Given the description of an element on the screen output the (x, y) to click on. 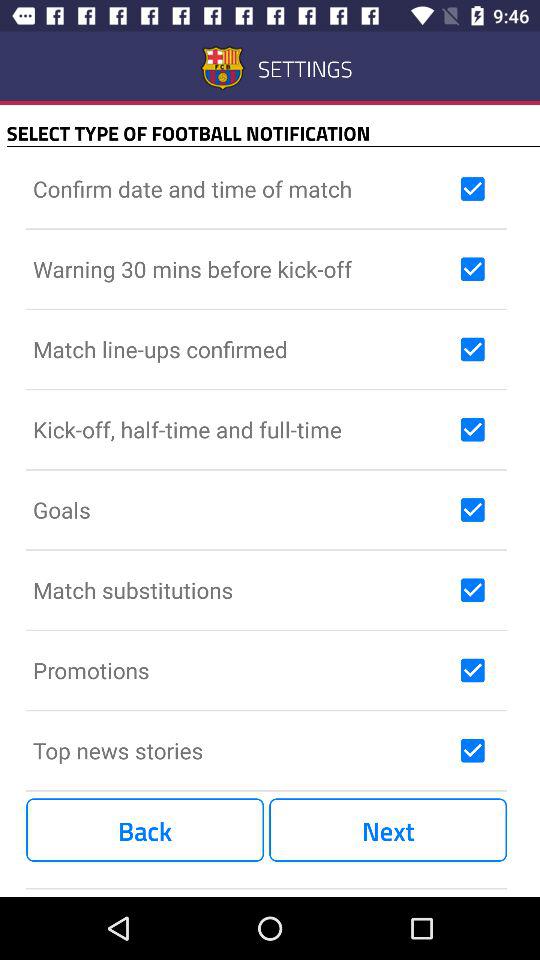
turn on back at the bottom left corner (145, 829)
